Given the description of an element on the screen output the (x, y) to click on. 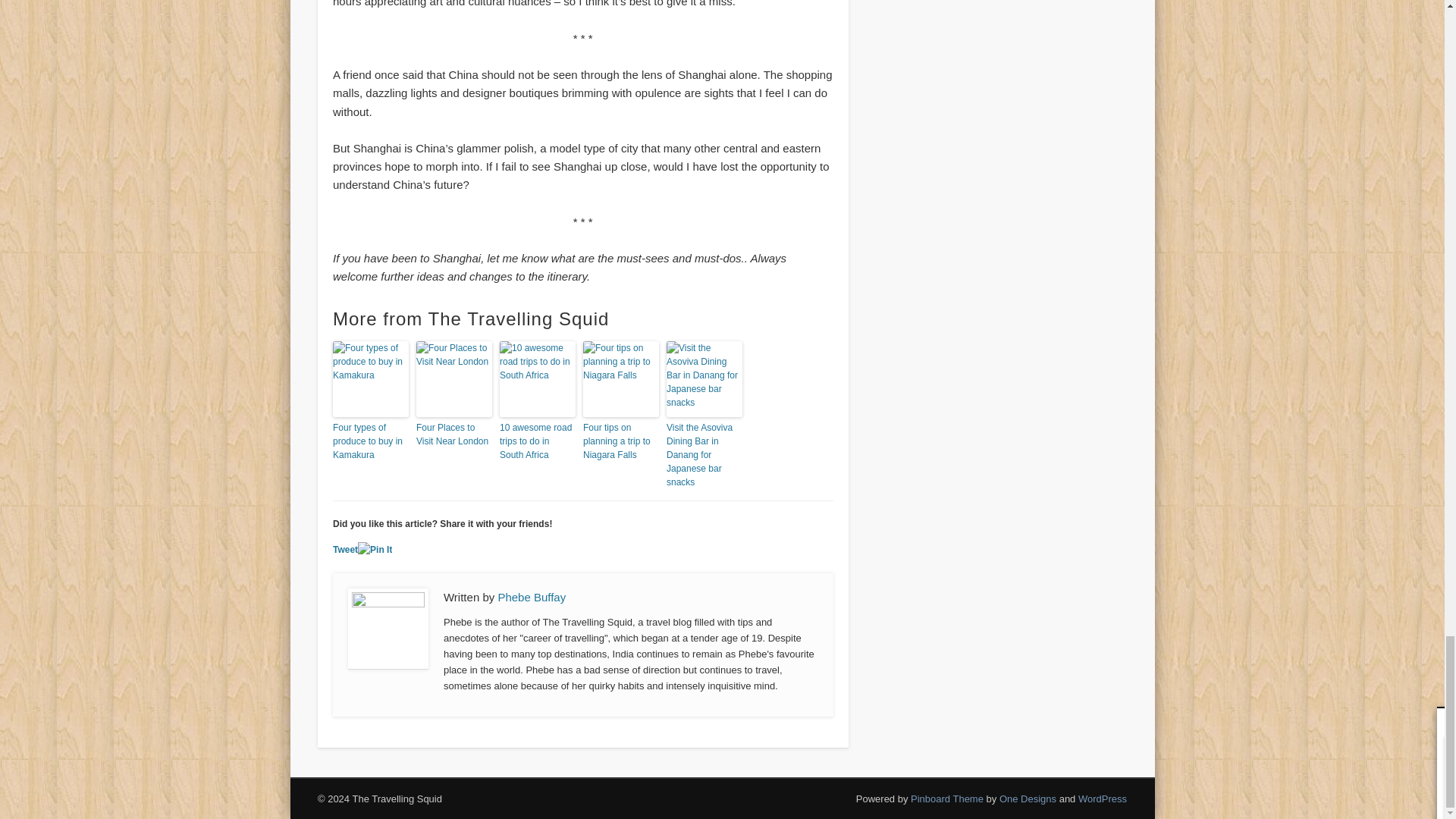
WordPress (1102, 798)
One Designs (1027, 798)
Pinboard Theme (947, 798)
Pin It (374, 549)
Posts by Phebe Buffay (531, 596)
